Given the description of an element on the screen output the (x, y) to click on. 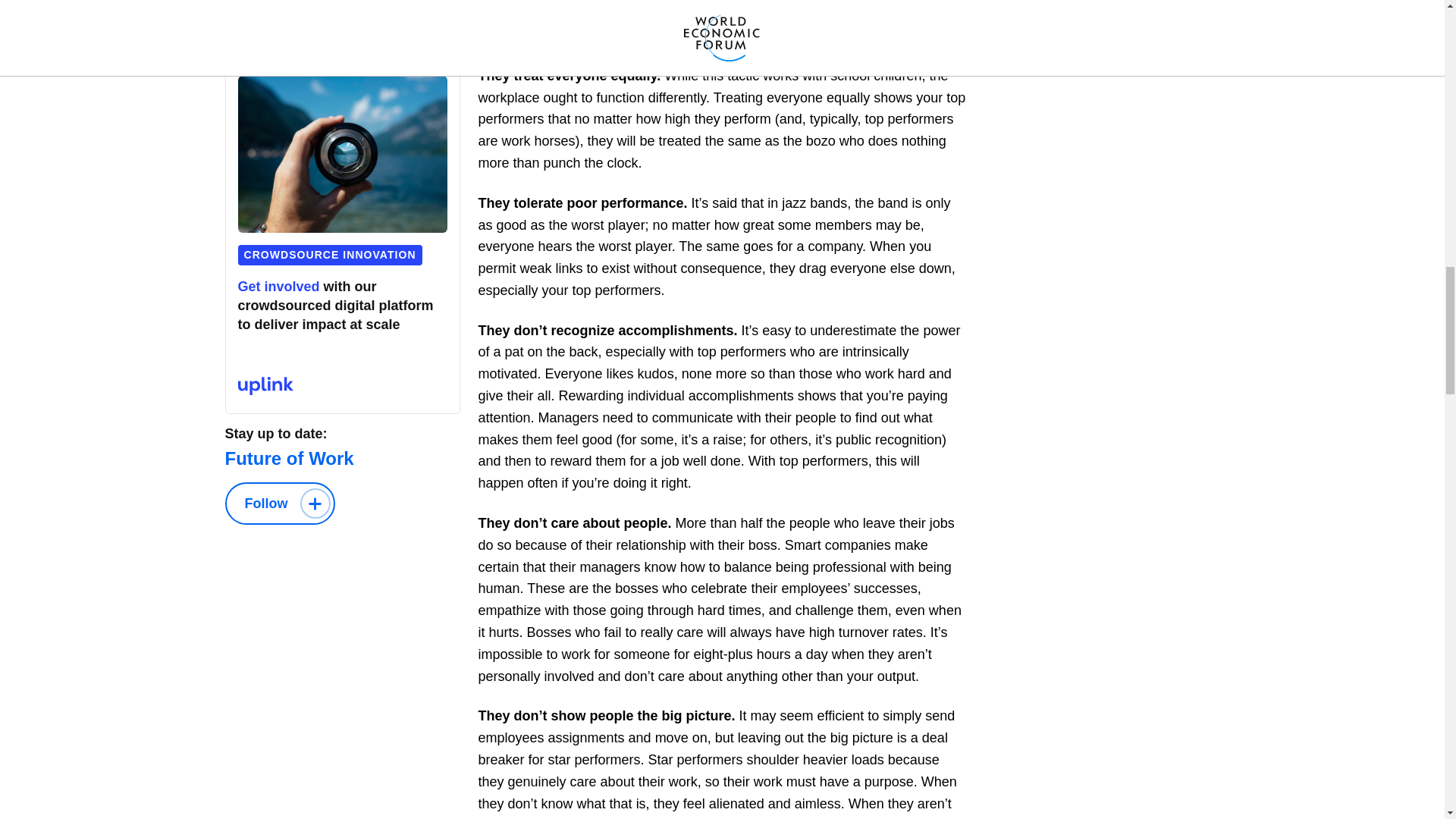
Follow (279, 503)
